Given the description of an element on the screen output the (x, y) to click on. 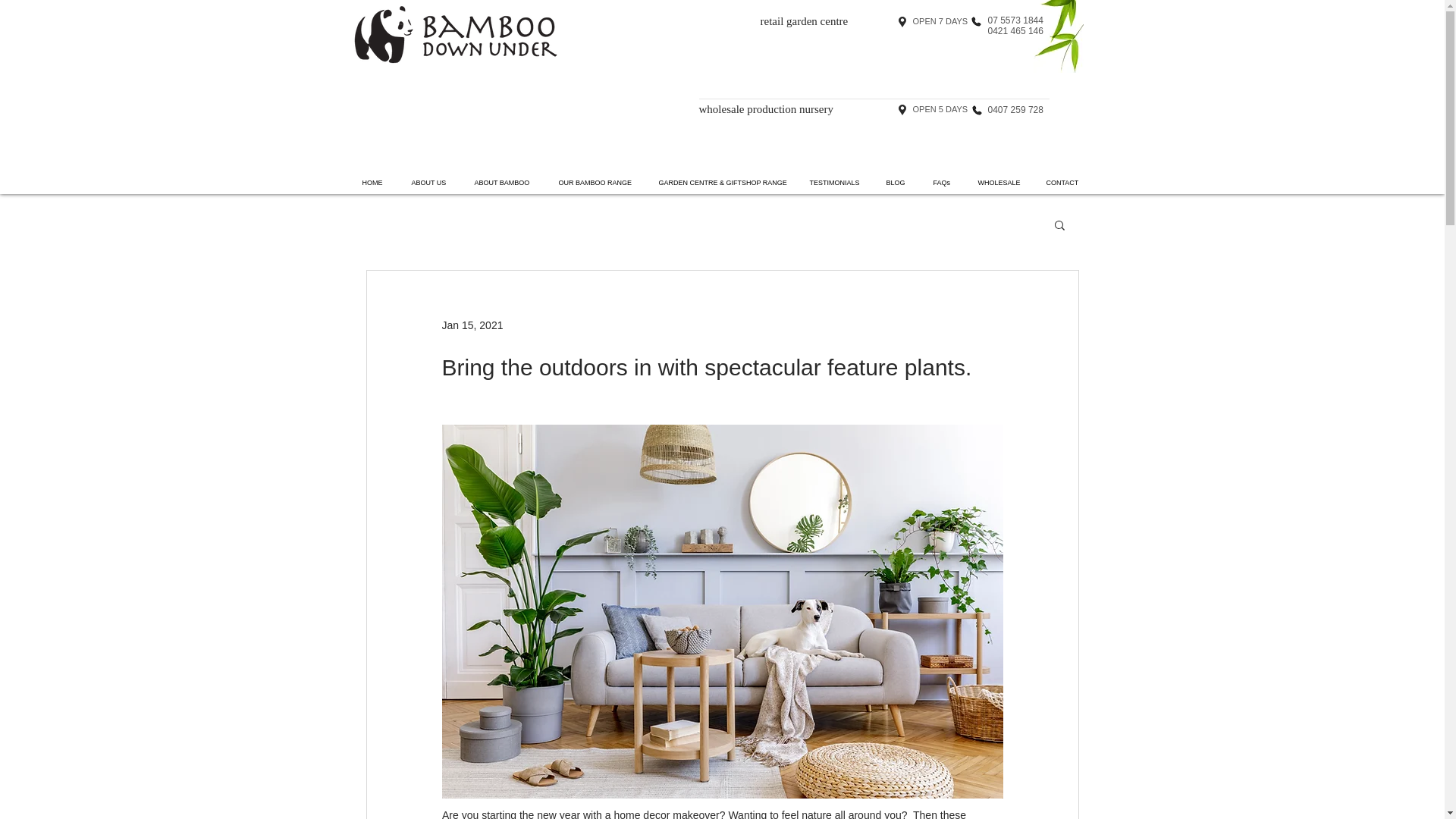
0407 259 728 (1014, 109)
TESTIMONIALS (836, 182)
BLOG (898, 182)
WHOLESALE (999, 182)
FAQs (943, 182)
0421 465 146 (1014, 30)
wholesale production nursery (765, 108)
HOME (374, 182)
Jan 15, 2021 (471, 324)
CONTACT (1063, 182)
